Given the description of an element on the screen output the (x, y) to click on. 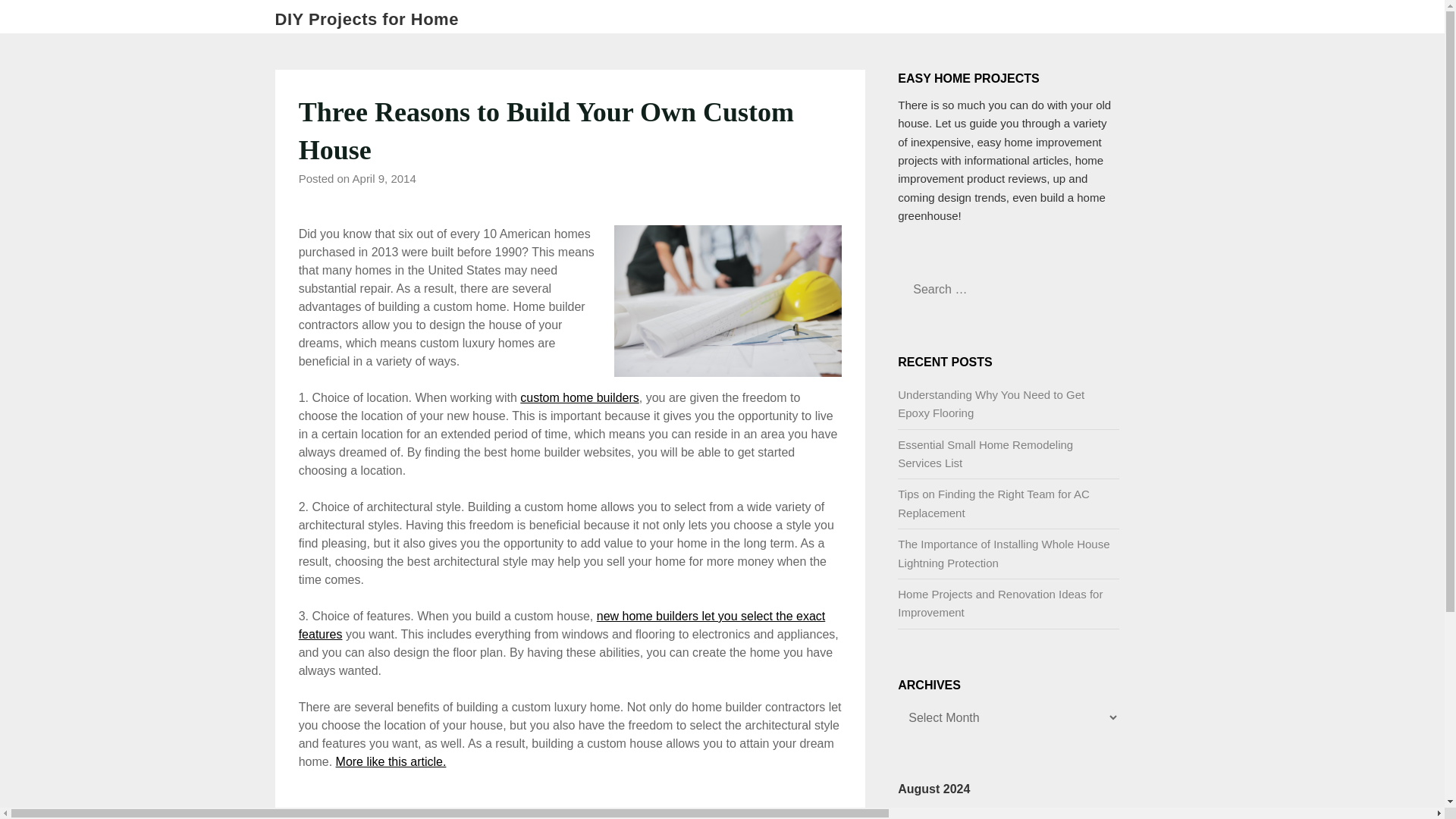
DIY Projects for Home (366, 19)
Thursday (1008, 812)
new home builders let you select the exact features (561, 624)
Essential Small Home Remodeling Services List (985, 453)
Home Projects and Renovation Ideas for Improvement (1000, 603)
Check this out (579, 397)
custom home builders (579, 397)
Search (38, 22)
Wednesday (976, 812)
